Given the description of an element on the screen output the (x, y) to click on. 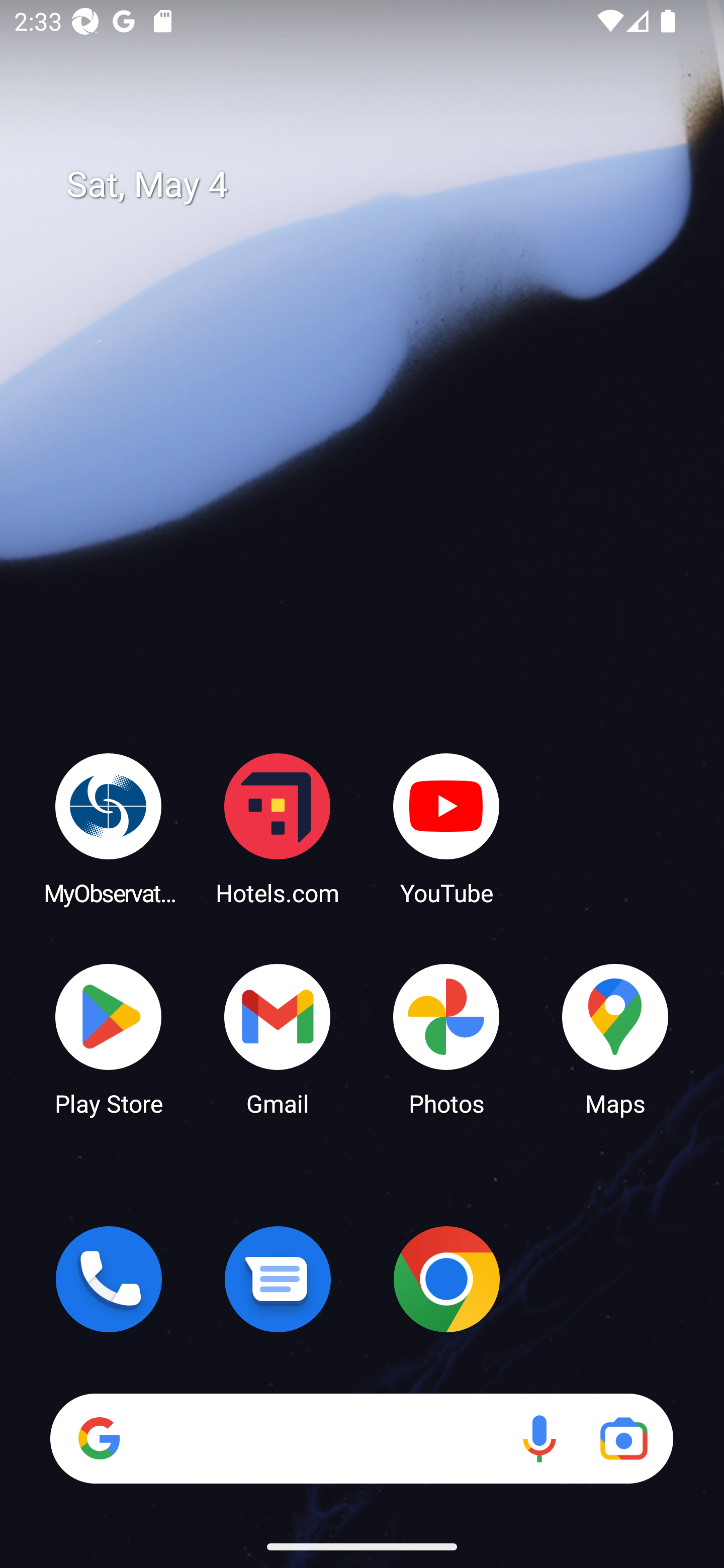
Sat, May 4 (375, 184)
MyObservatory (108, 828)
Hotels.com (277, 828)
YouTube (445, 828)
Play Store (108, 1038)
Gmail (277, 1038)
Photos (445, 1038)
Maps (615, 1038)
Phone (108, 1279)
Messages (277, 1279)
Chrome (446, 1279)
Search Voice search Google Lens (361, 1438)
Voice search (539, 1438)
Google Lens (623, 1438)
